Given the description of an element on the screen output the (x, y) to click on. 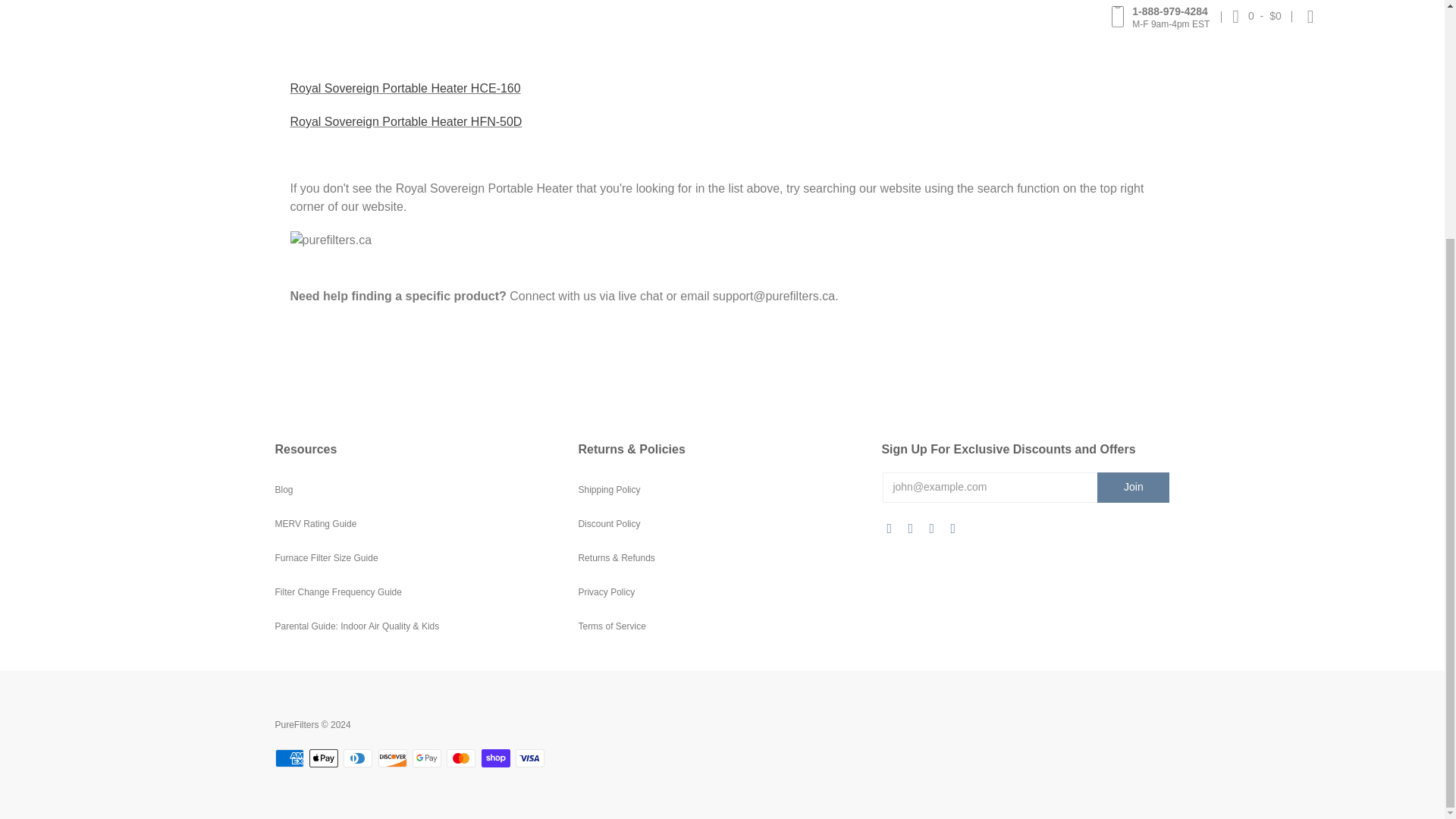
Apple Pay (322, 758)
Shop Pay (496, 758)
Visa (529, 758)
American Express (288, 758)
Join (1133, 487)
Mastercard (461, 758)
Diners Club (357, 758)
Google Pay (426, 758)
Discover (392, 758)
